Given the description of an element on the screen output the (x, y) to click on. 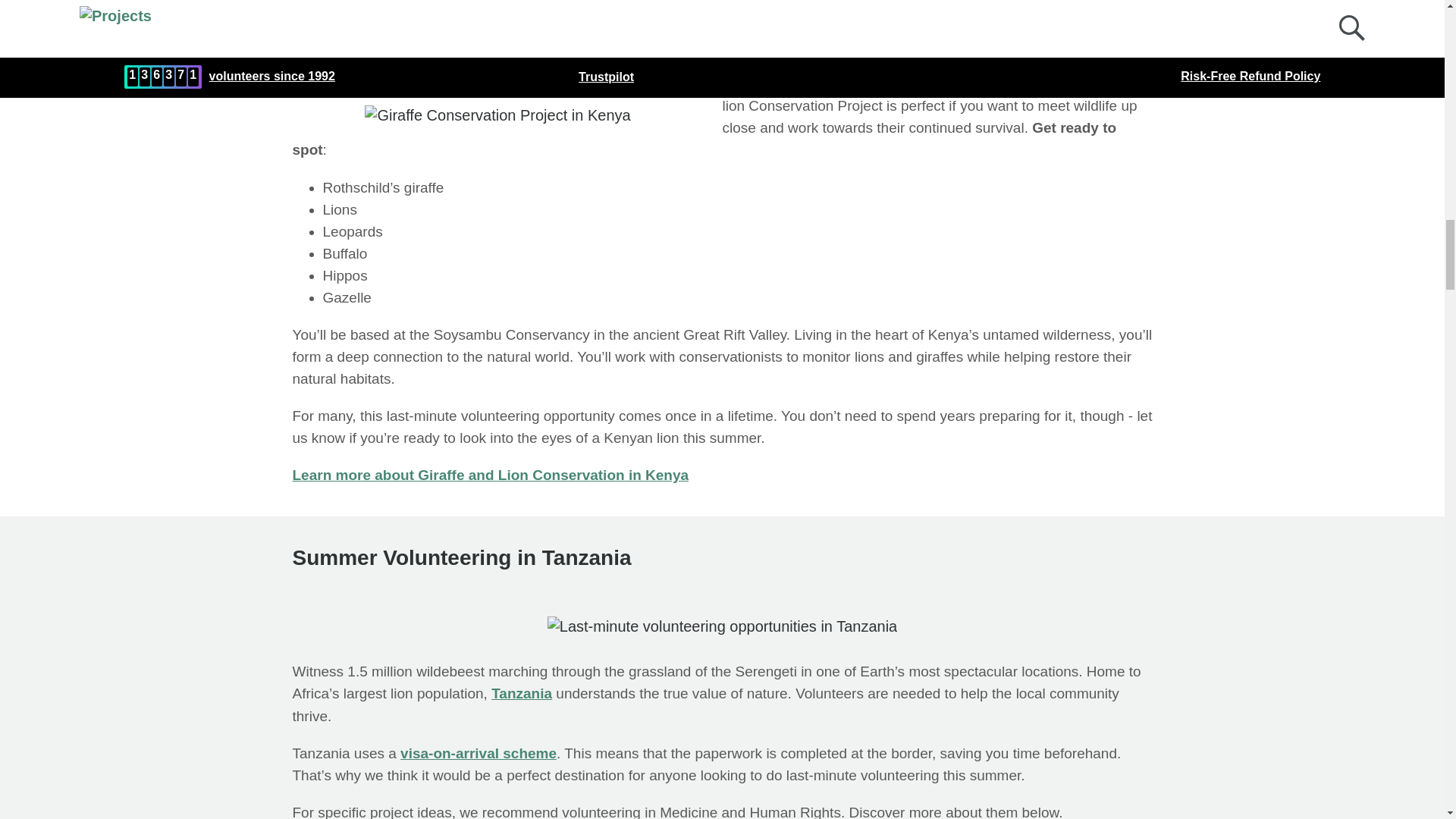
Tanzania (521, 693)
Giraffes at a summer conservation project in Kenya (505, 115)
visa-on-arrival scheme (478, 753)
Learn more about Giraffe and Lion Conservation in Kenya (490, 474)
Volunteer with local people in Tanzania (721, 626)
